Given the description of an element on the screen output the (x, y) to click on. 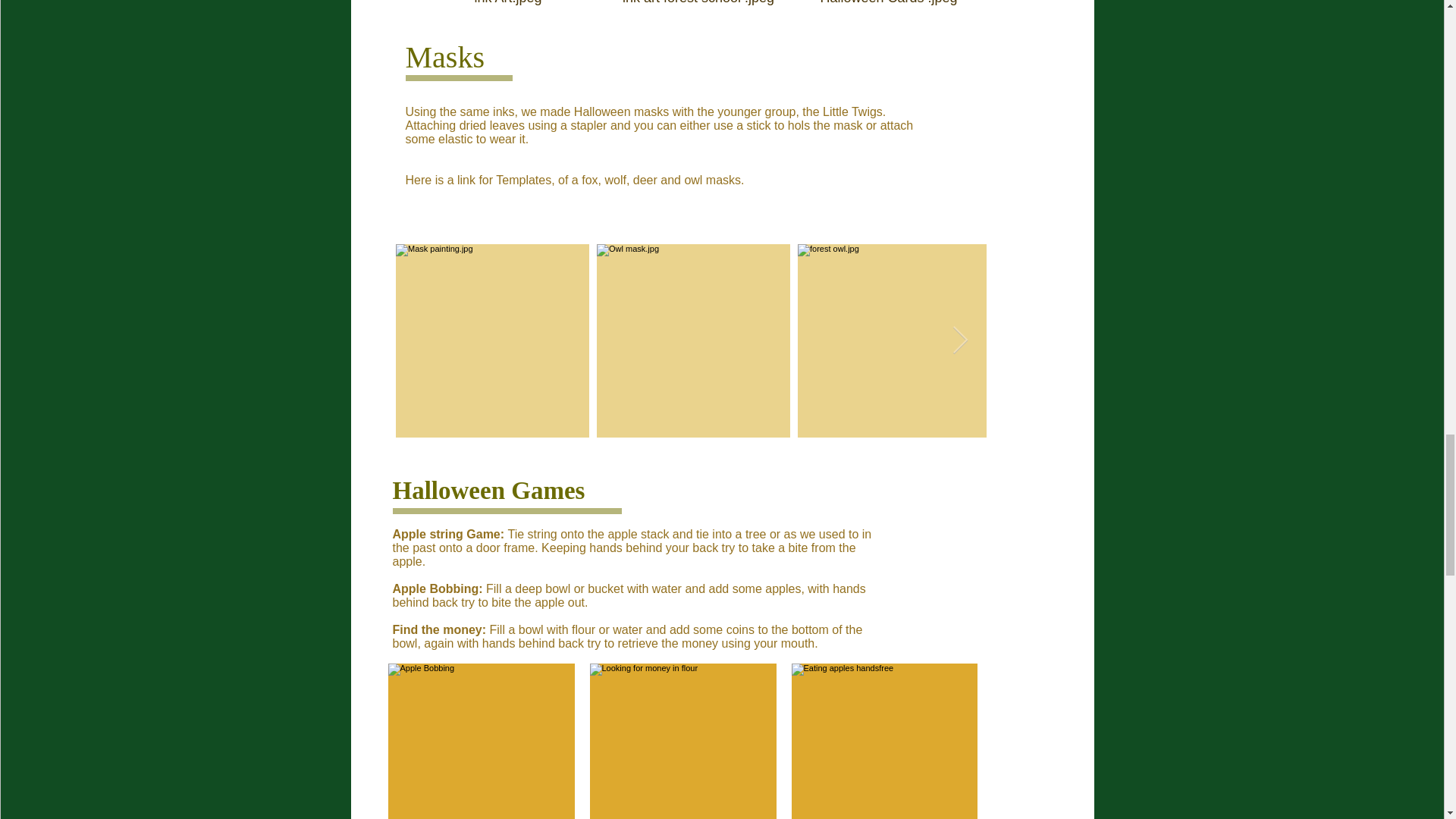
Doc 1 Animal mask templates .docx (758, 198)
